Given the description of an element on the screen output the (x, y) to click on. 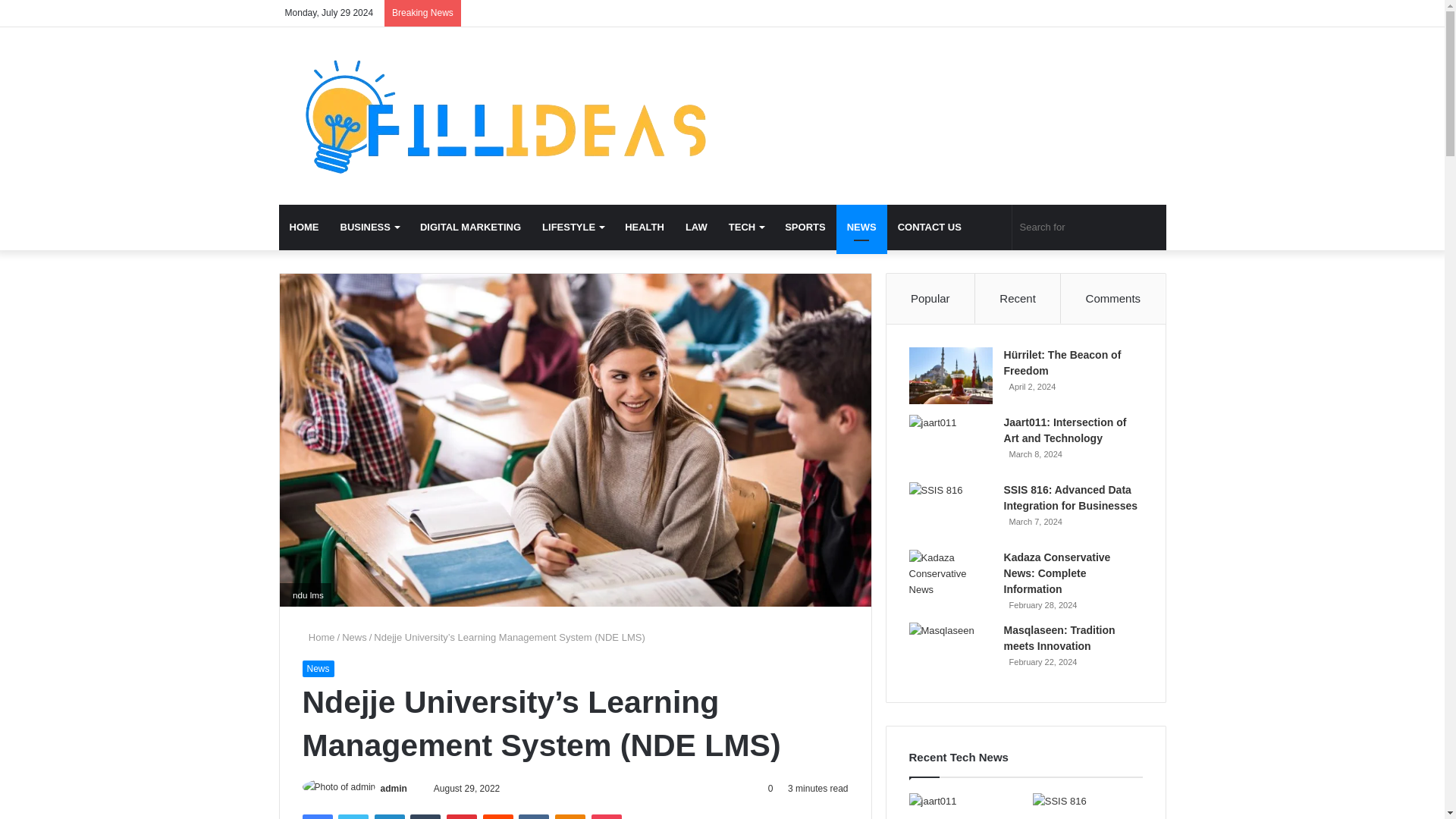
DIGITAL MARKETING (470, 227)
LinkedIn (389, 816)
admin (393, 787)
News (317, 668)
HEALTH (644, 227)
SPORTS (804, 227)
VKontakte (533, 816)
Facebook (316, 816)
Tumblr (425, 816)
LAW (696, 227)
Random Article (992, 227)
Home (317, 636)
BUSINESS (369, 227)
Search for (1088, 227)
